Given the description of an element on the screen output the (x, y) to click on. 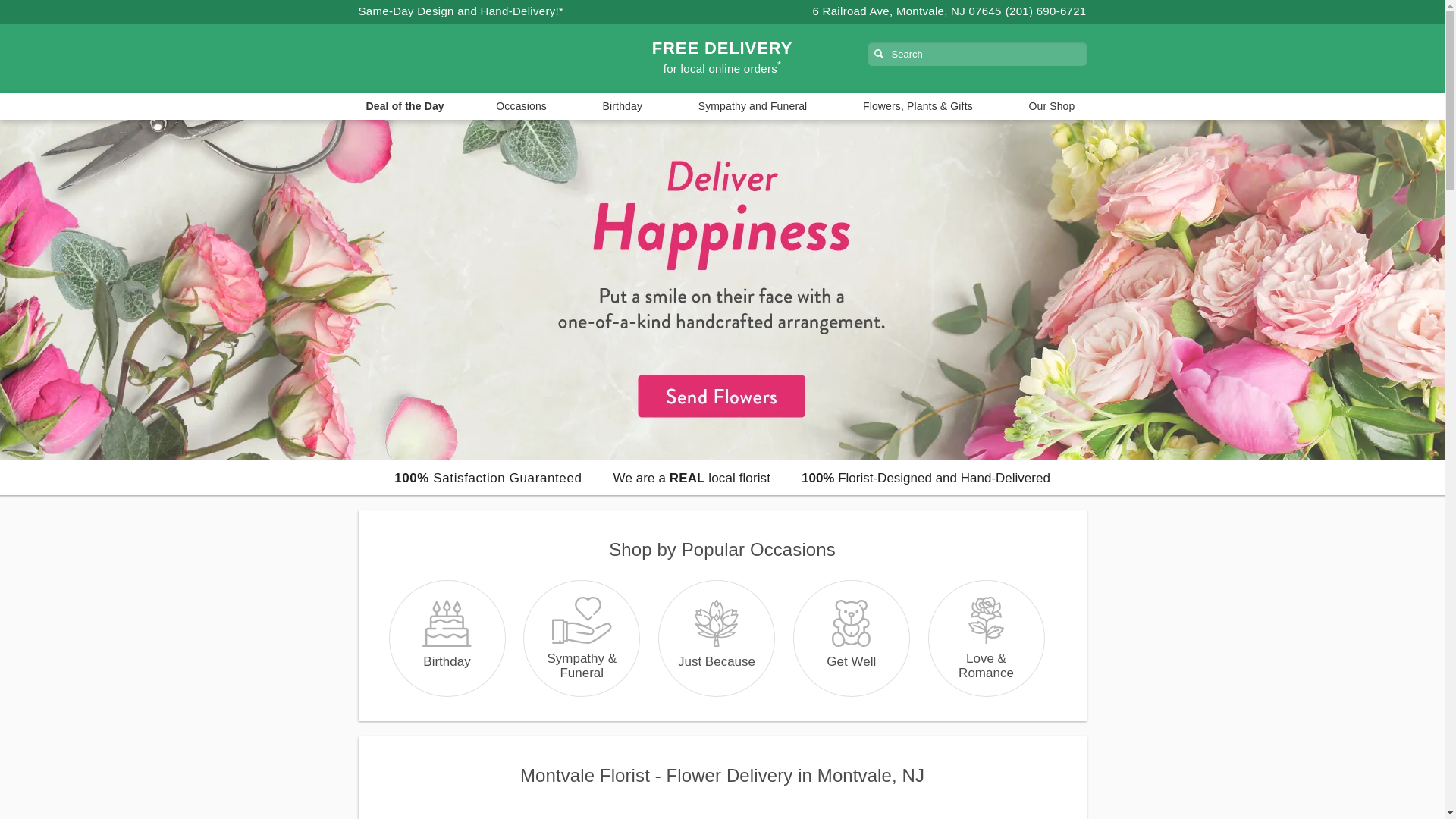
Submit Search Form (52, 7)
